Given the description of an element on the screen output the (x, y) to click on. 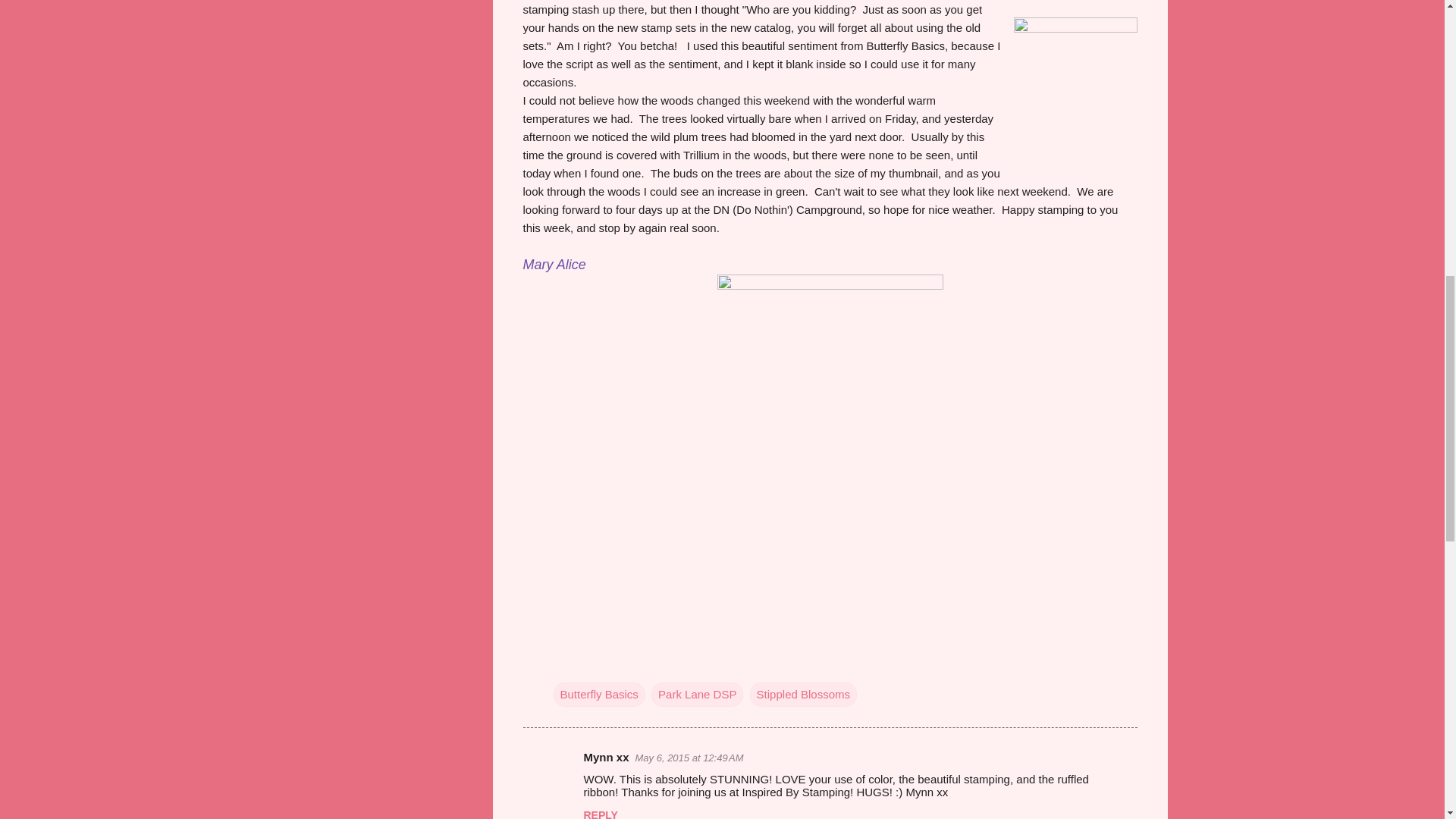
Stippled Blossoms (803, 694)
Butterfly Basics (599, 694)
Park Lane DSP (696, 694)
Mynn xx (605, 757)
REPLY (600, 814)
